Given the description of an element on the screen output the (x, y) to click on. 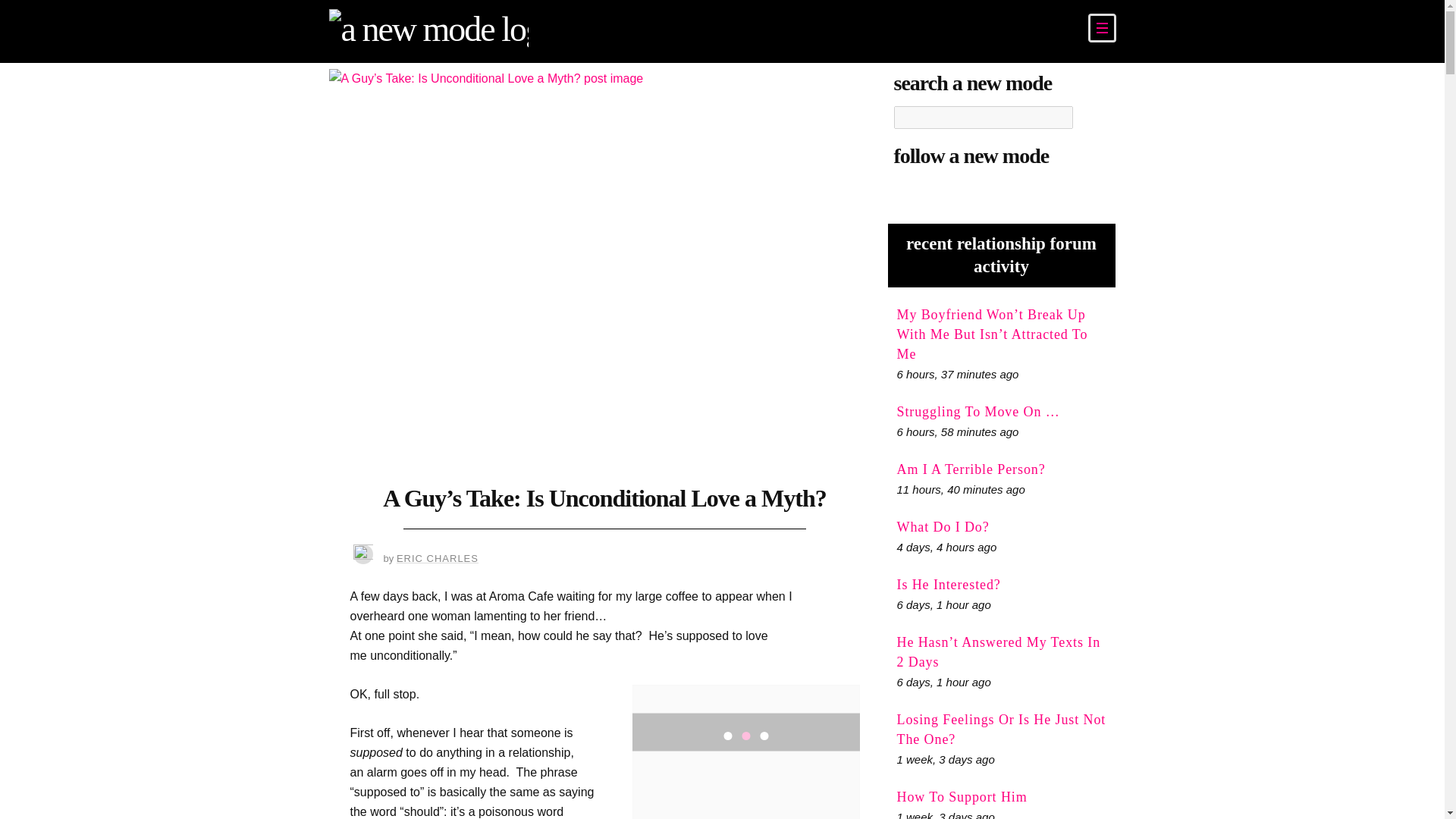
ERIC CHARLES (437, 558)
Search (1091, 117)
Search (1091, 117)
